Given the description of an element on the screen output the (x, y) to click on. 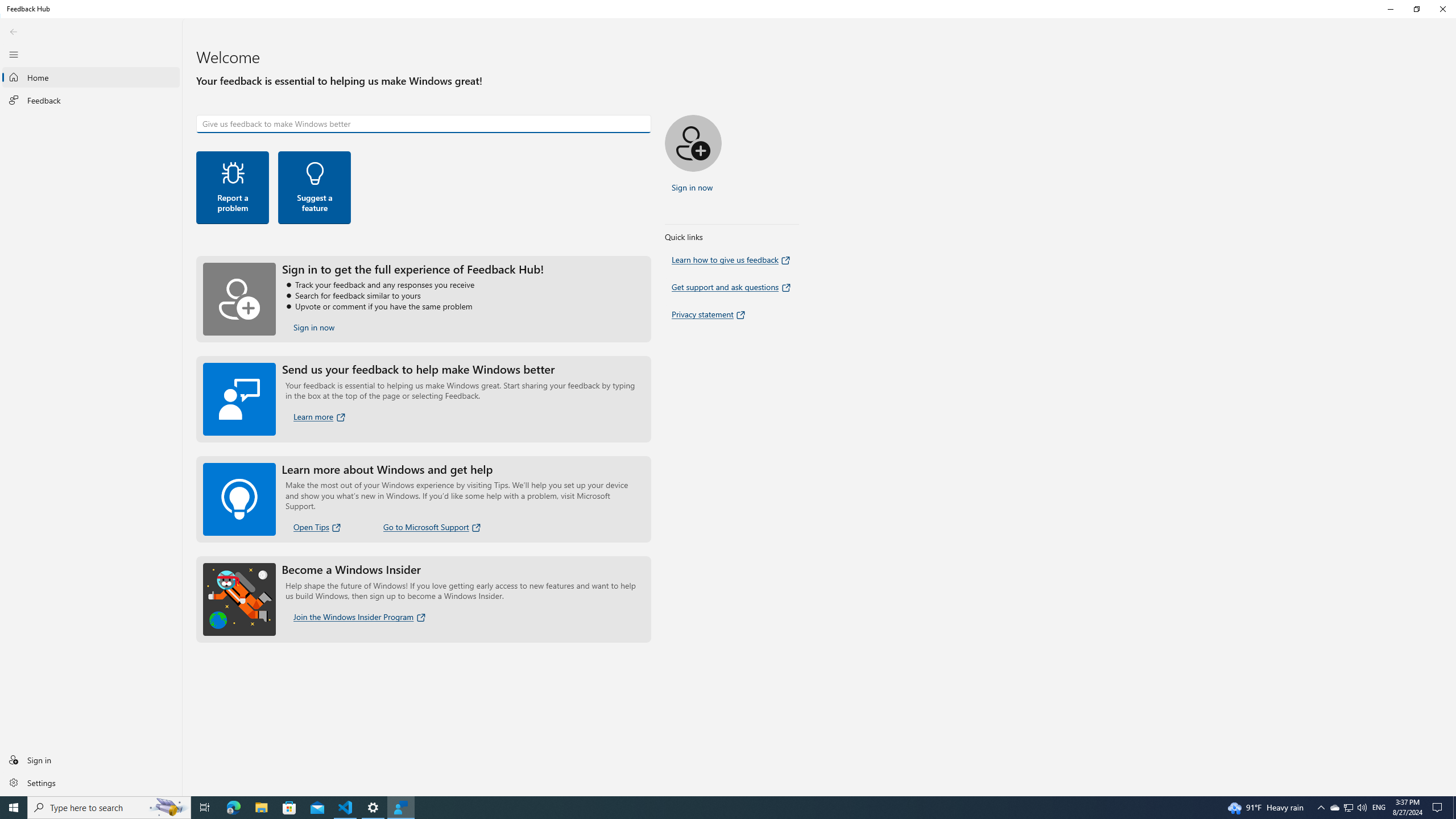
Microsoft Store (289, 807)
Action Center, No new notifications (1439, 807)
Feedback Hub - 1 running window (400, 807)
Get support and ask questions (732, 287)
Learn how to give us feedback (731, 259)
Q2790: 100% (1361, 807)
Running applications (706, 807)
Notification Chevron (1320, 807)
Visual Studio Code - 1 running window (345, 807)
Privacy statement (709, 314)
Tray Input Indicator - English (United States) (1378, 807)
Close Feedback Hub (1442, 9)
Restore Feedback Hub (1416, 9)
Close Navigation (13, 54)
